Given the description of an element on the screen output the (x, y) to click on. 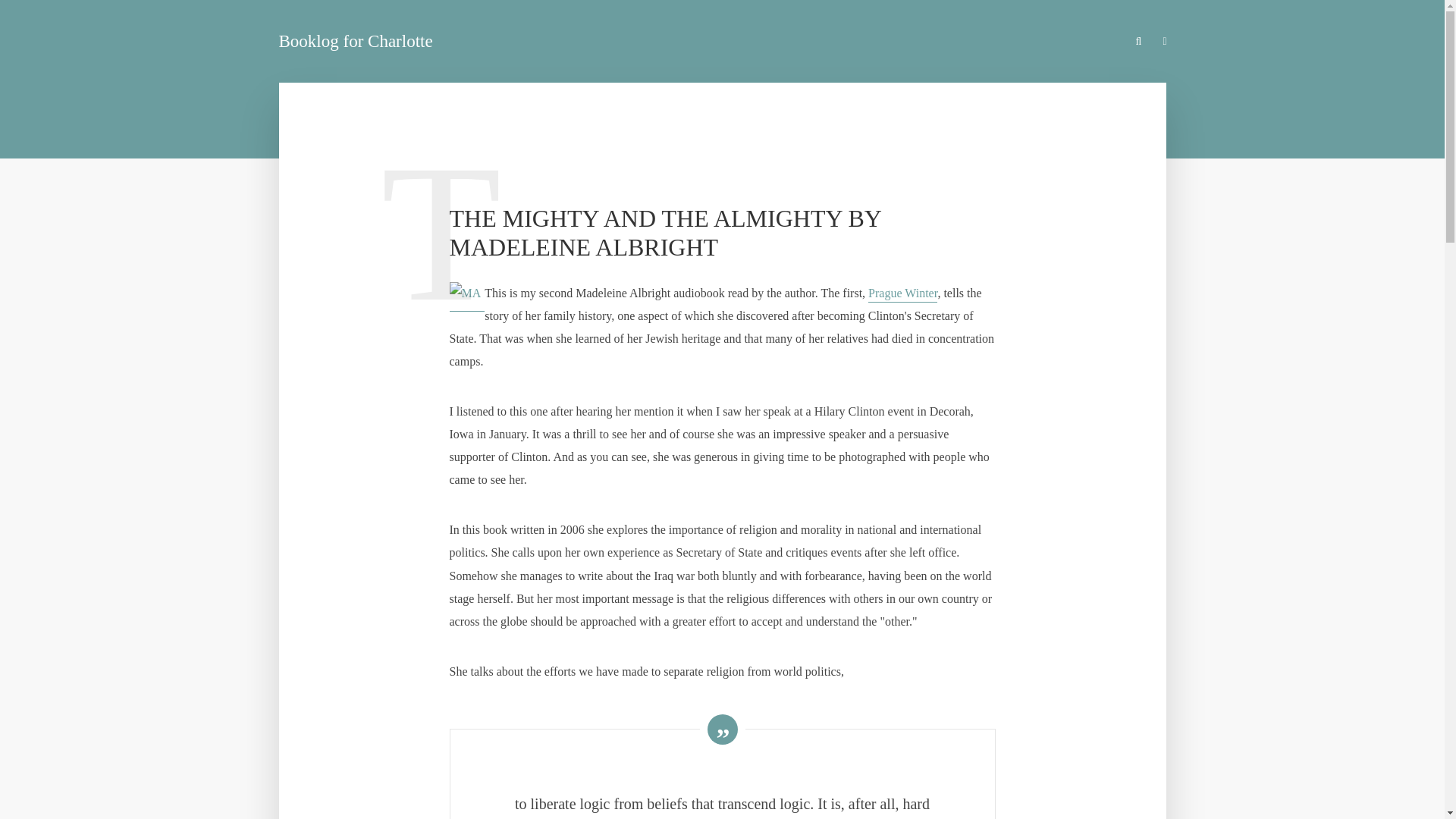
Prague Winter (902, 294)
MA (464, 292)
Booklog for Charlotte (355, 40)
